Given the description of an element on the screen output the (x, y) to click on. 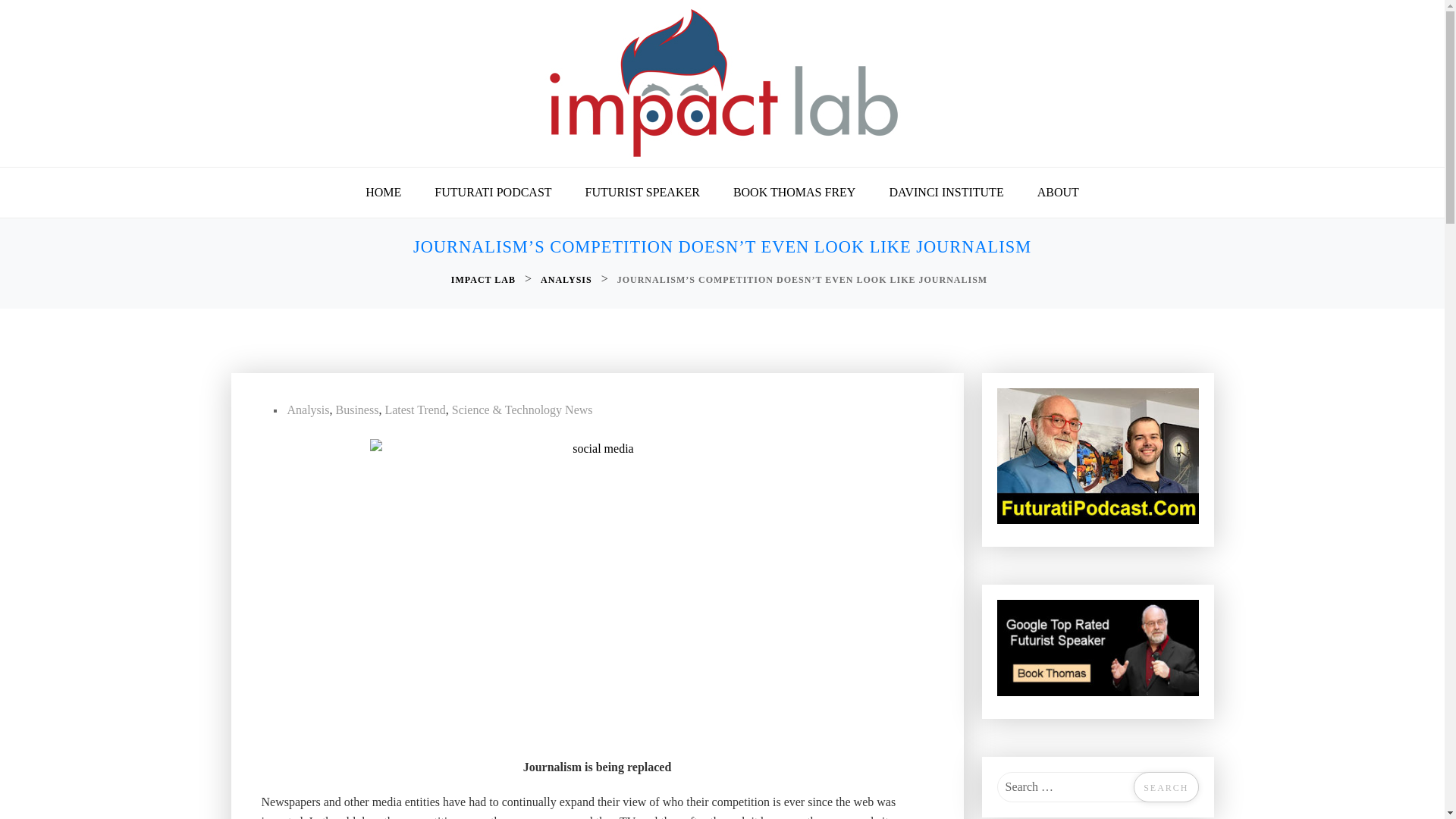
DAVINCI INSTITUTE (945, 192)
Go to the Analysis Category archives. (567, 279)
Analysis (307, 410)
Latest Trend (414, 410)
Search (1166, 787)
IMPACT LAB (484, 279)
HOME (383, 192)
Search (1166, 787)
Business (356, 410)
FUTURATI PODCAST (492, 192)
